Given the description of an element on the screen output the (x, y) to click on. 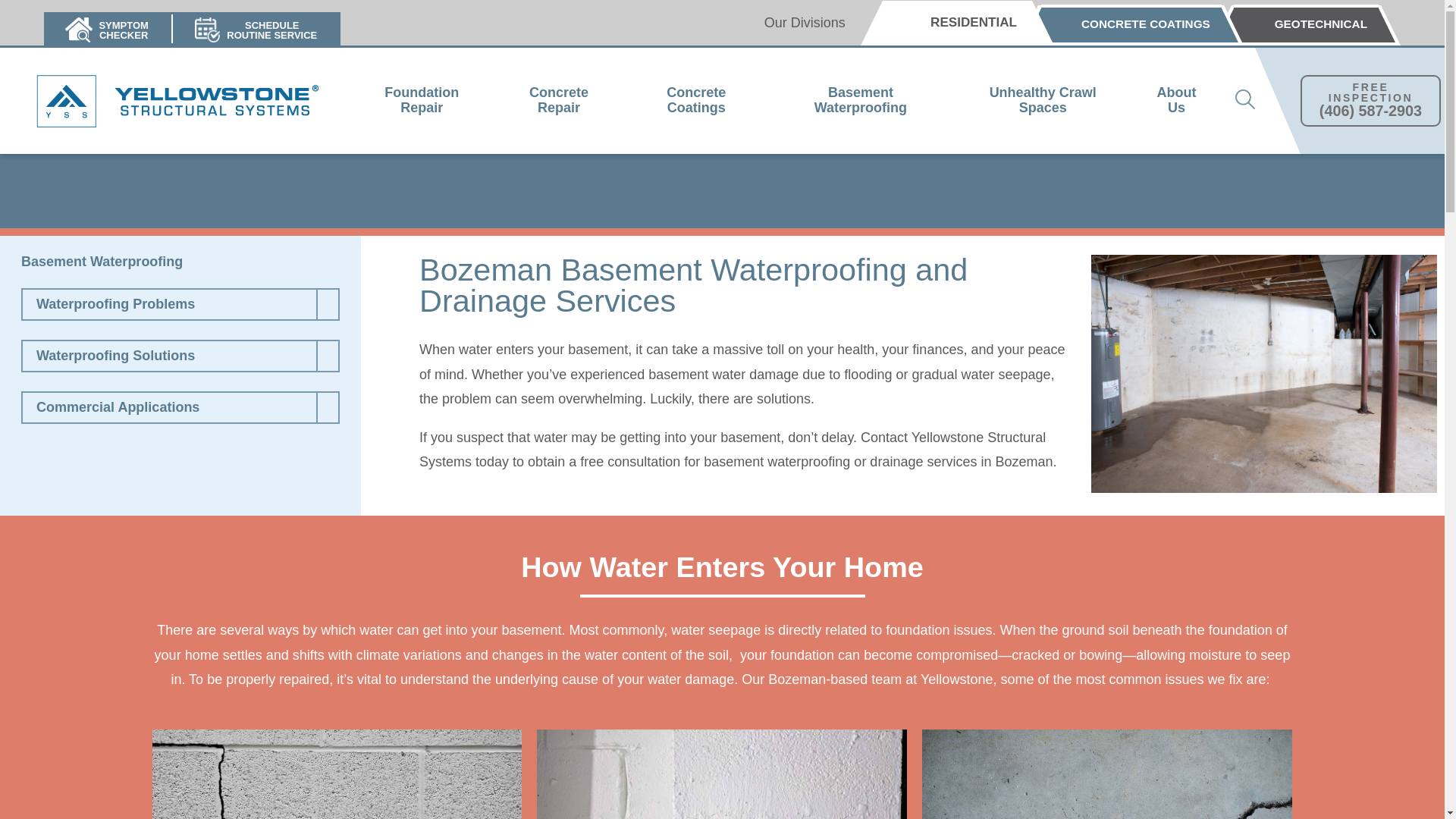
GEOTECHNICAL (107, 28)
RESIDENTIAL (1305, 24)
Concrete Repair (957, 22)
Foundation Repair (558, 100)
Concrete Coatings (421, 100)
